Given the description of an element on the screen output the (x, y) to click on. 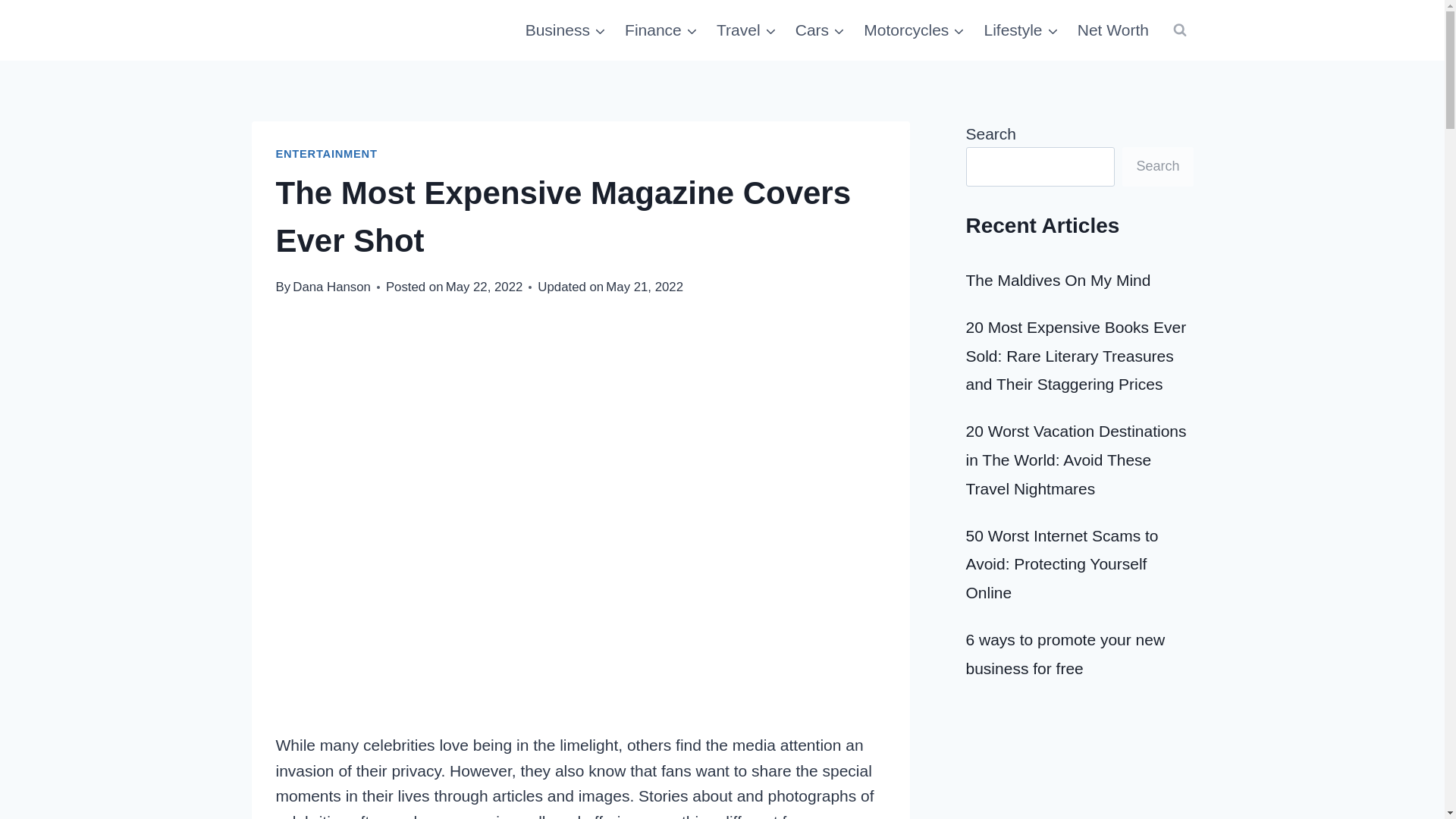
Cars (820, 30)
Travel (746, 30)
Business (564, 30)
Finance (661, 30)
